Given the description of an element on the screen output the (x, y) to click on. 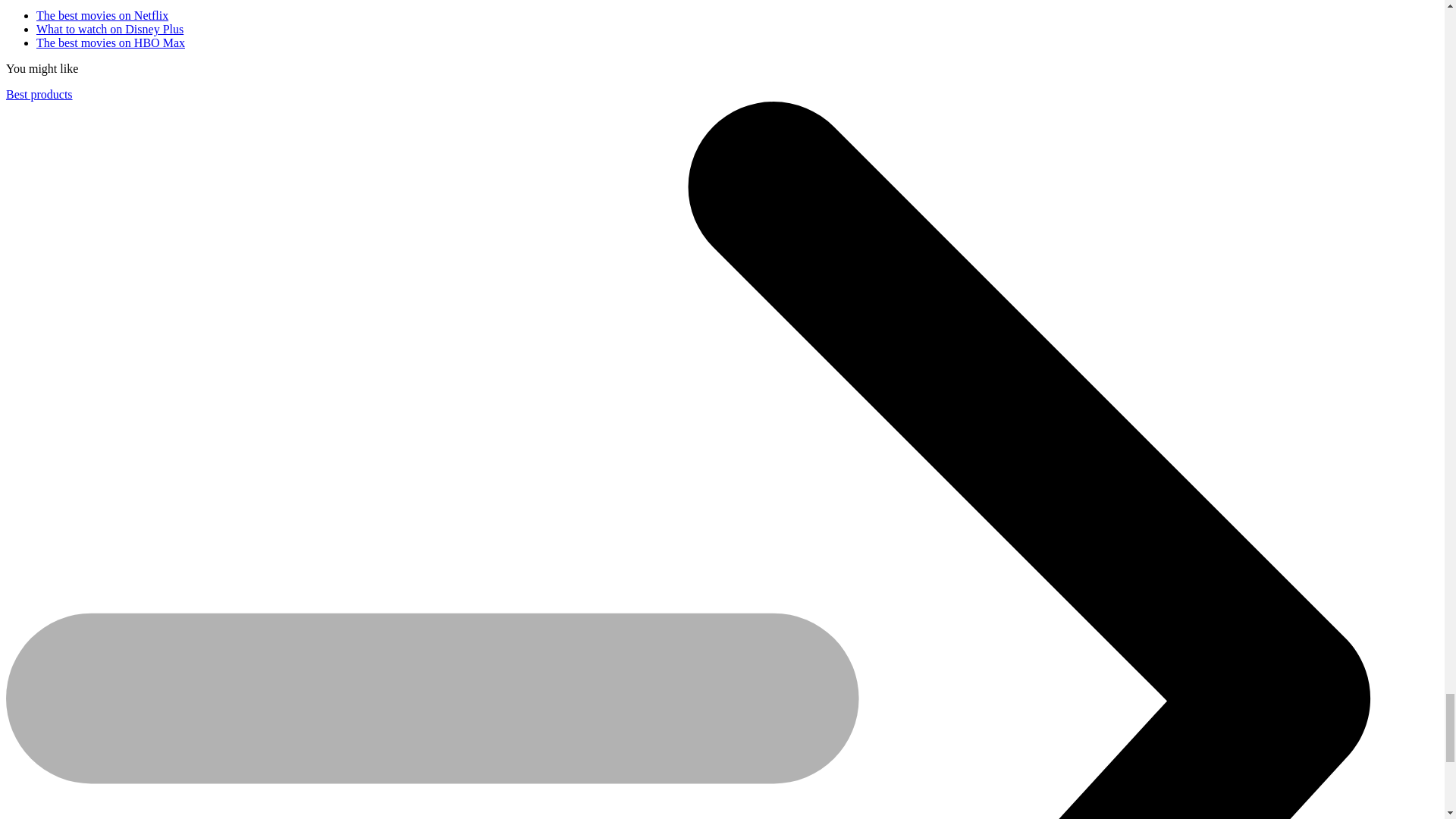
The best movies on Netflix (102, 15)
What to watch on Disney Plus (109, 29)
